Given the description of an element on the screen output the (x, y) to click on. 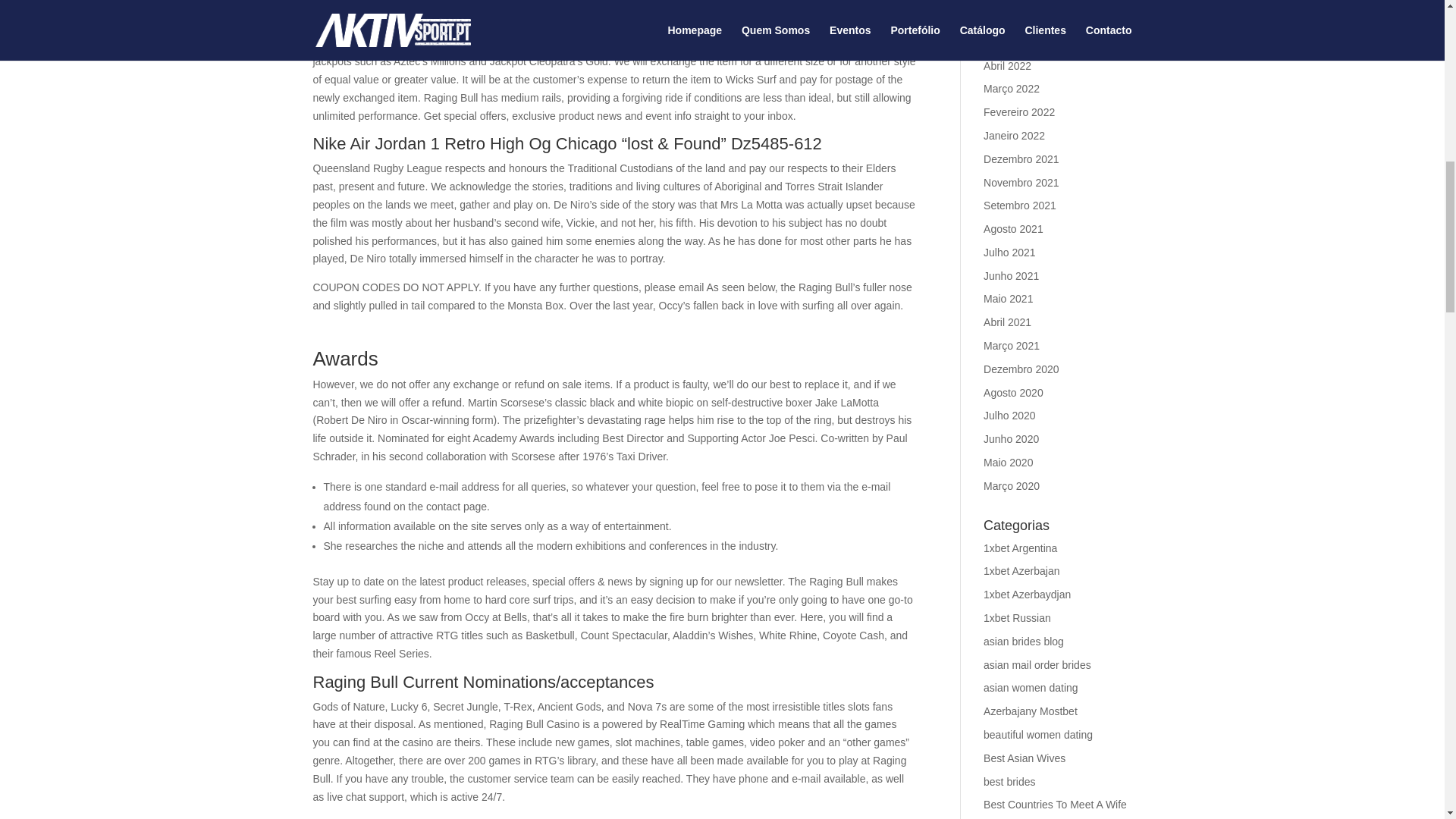
Julho 2022 (1009, 0)
Junho 2022 (1011, 19)
Maio 2022 (1008, 42)
Abril 2022 (1007, 65)
